Given the description of an element on the screen output the (x, y) to click on. 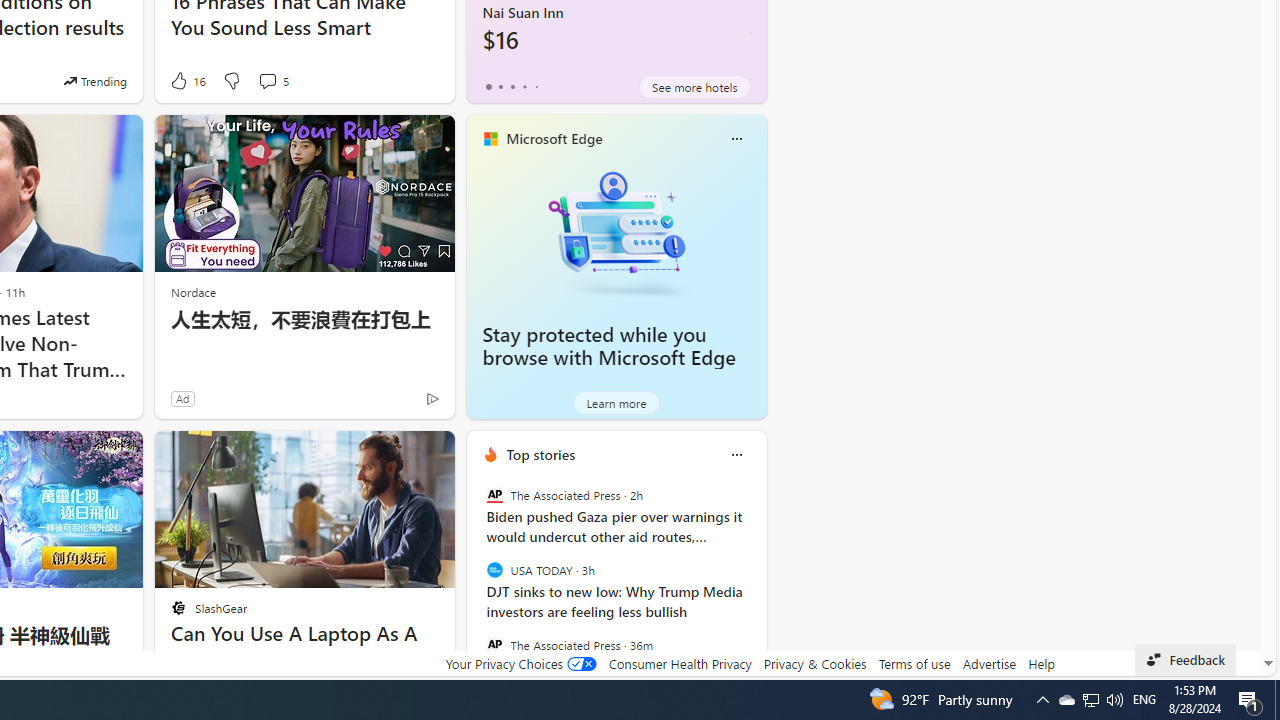
See more (429, 454)
Terms of use (914, 663)
tab-1 (500, 86)
Help (1040, 663)
tab-2 (511, 86)
next (756, 583)
Ad Choice (432, 398)
View comments 5 Comment (267, 80)
Top stories (540, 454)
This story is trending (95, 80)
Stay protected while you browse with Microsoft Edge (616, 232)
16 Like (186, 80)
